Given the description of an element on the screen output the (x, y) to click on. 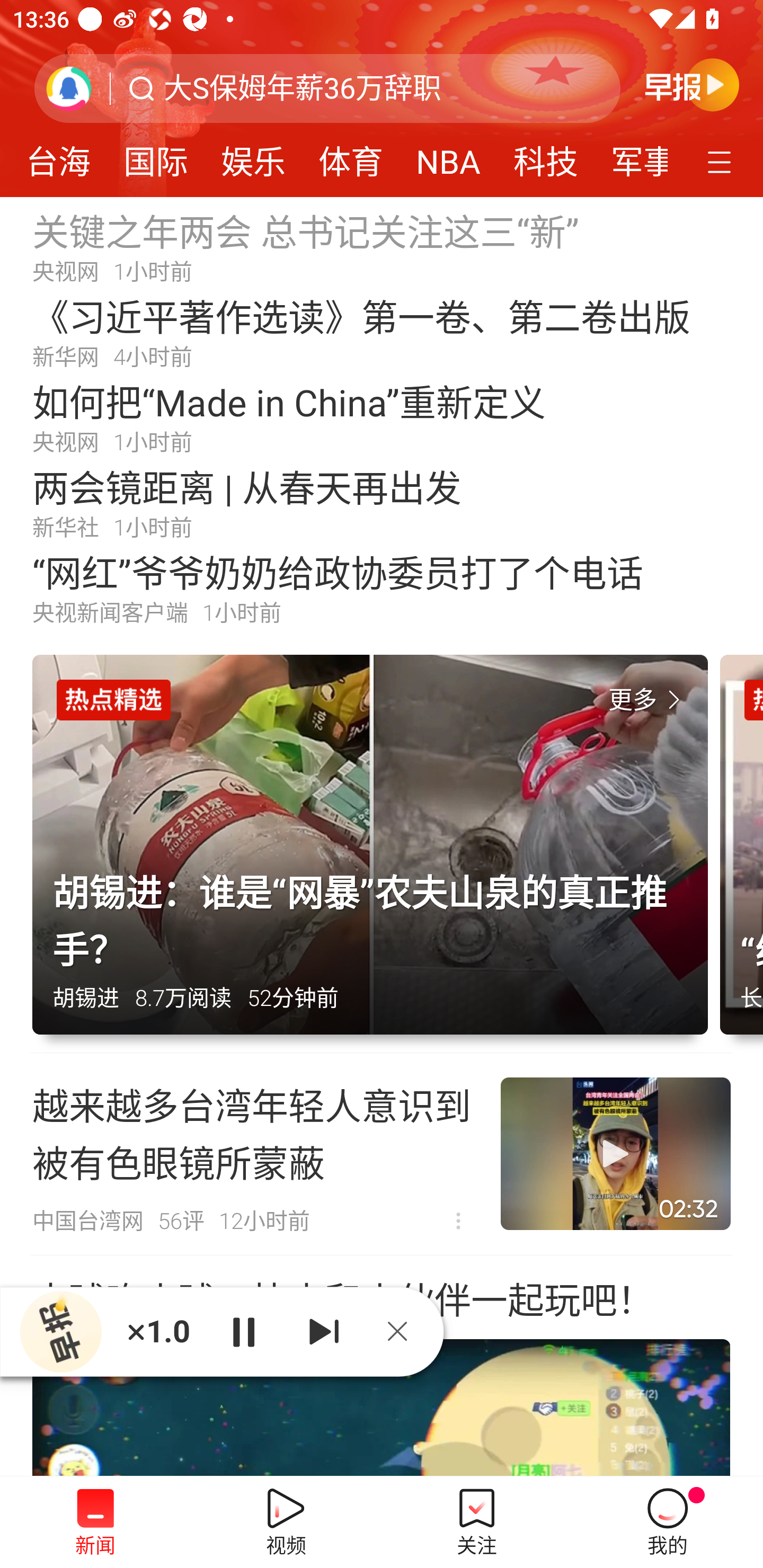
早晚报 (691, 84)
刷新 (68, 88)
大S保姆年薪36万辞职 (302, 88)
台海 (61, 155)
国际 (155, 155)
娱乐 (253, 155)
体育 (350, 155)
NBA (447, 155)
科技 (545, 155)
军事 (630, 155)
 定制频道 (721, 160)
关键之年两会 总书记关注这三“新” 央视网 1小时前 (381, 245)
《习近平著作选读》第一卷、第二卷出版 新华网 4小时前 (381, 331)
如何把“Made in China”重新定义 央视网 1小时前 (381, 416)
两会镜距离 | 从春天再出发 新华社 1小时前 (381, 502)
“网红”爷爷奶奶给政协委员打了个电话 央视新闻客户端 1小时前 (381, 587)
更多  胡锡进：谁是“网暴”农夫山泉的真正推手？ 胡锡进   8.7万阅读   52分钟前 (376, 853)
更多  (648, 699)
越来越多台湾年轻人意识到被有色眼镜所蒙蔽 中国台湾网 56评 12小时前  不感兴趣 02:32 (381, 1153)
 不感兴趣 (458, 1221)
 播放 (242, 1330)
 下一个 (323, 1330)
播放器 (60, 1331)
 关闭 (404, 1330)
 1.0 (157, 1330)
